Given the description of an element on the screen output the (x, y) to click on. 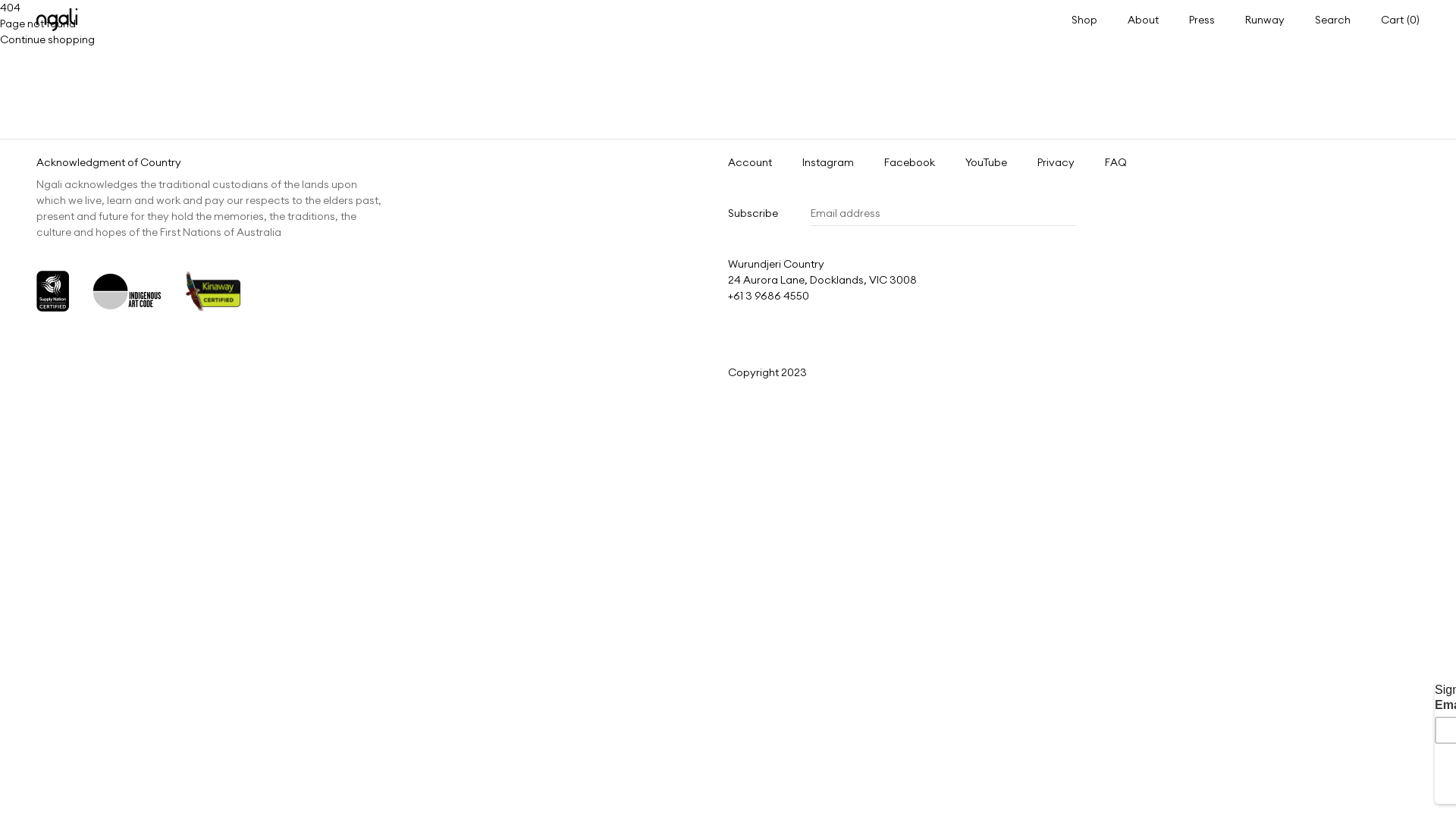
Cart
Cart
0 Element type: text (1399, 20)
YouTube Element type: text (986, 162)
Account Element type: text (749, 162)
Instagram Element type: text (827, 162)
Continue shopping Element type: text (47, 39)
Shop Element type: text (1084, 18)
About Element type: text (1142, 18)
Privacy Element type: text (1055, 162)
+61 3 9686 4550 Element type: text (768, 295)
Facebook Element type: text (909, 162)
Press Element type: text (1201, 18)
Runway Element type: text (1264, 18)
FAQ Element type: text (1115, 162)
Search Element type: text (1332, 20)
